Given the description of an element on the screen output the (x, y) to click on. 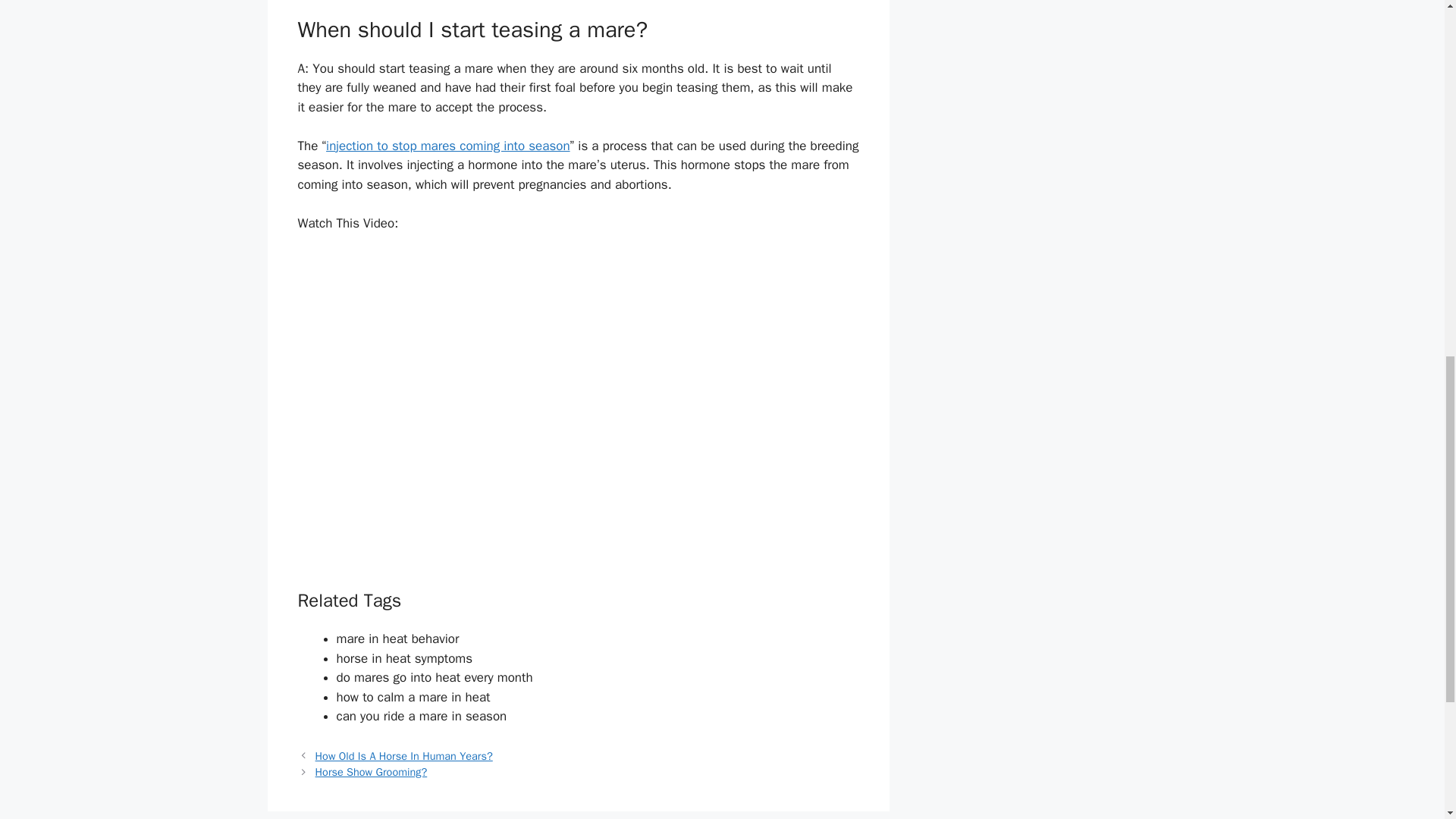
Horse Show Grooming? (371, 771)
injection to stop mares coming into season (448, 145)
How Old Is A Horse In Human Years? (404, 755)
